Given the description of an element on the screen output the (x, y) to click on. 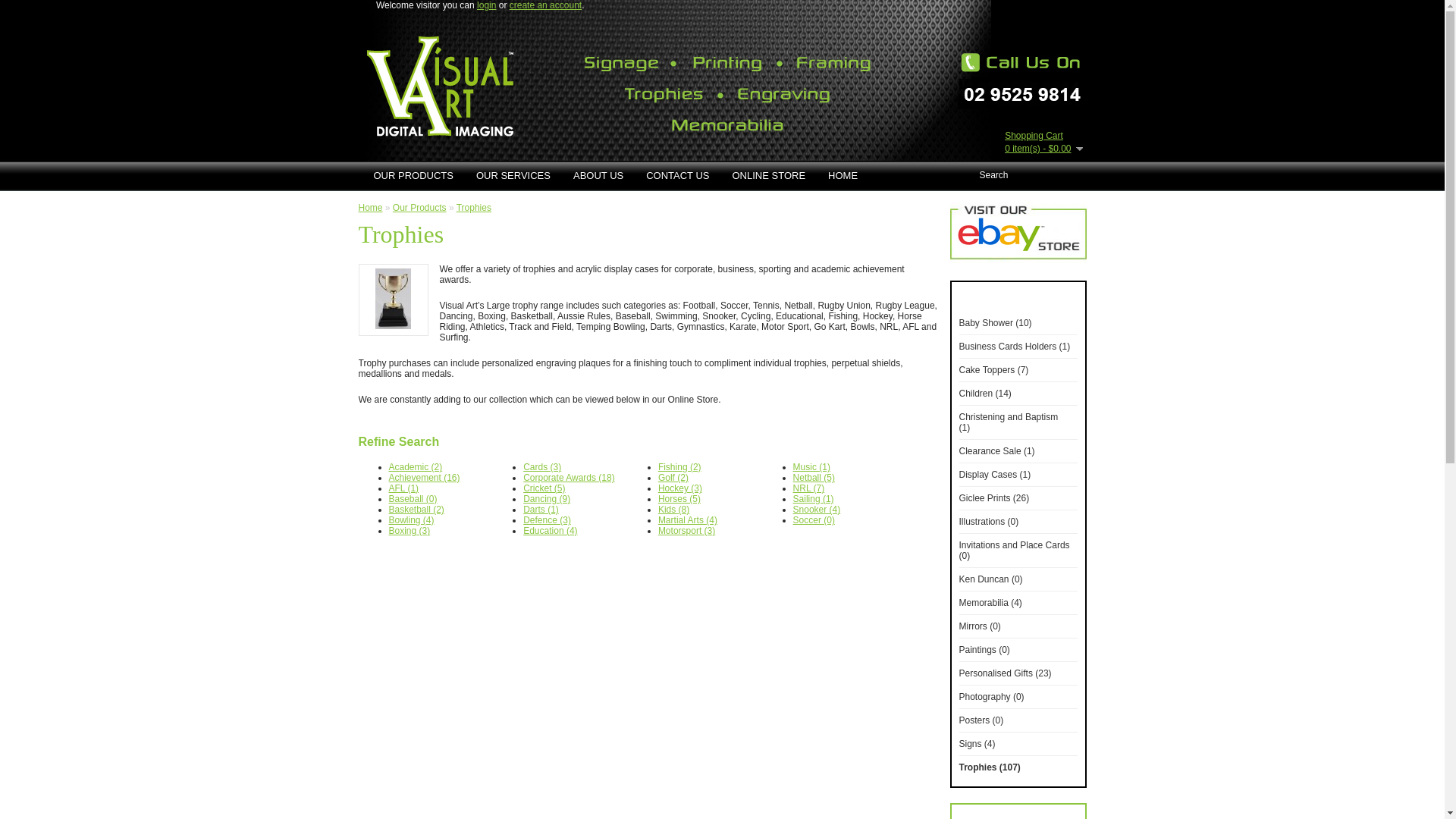
Academic (2) Element type: text (415, 466)
Achievement (16) Element type: text (423, 477)
Illustrations (0) Element type: text (988, 521)
OUR SERVICES Element type: text (512, 175)
Memorabilia (4) Element type: text (989, 602)
Basketball (2) Element type: text (415, 509)
Trophies (107) Element type: text (988, 767)
Clearance Sale (1) Element type: text (996, 450)
Display Cases (1) Element type: text (994, 474)
Mirrors (0) Element type: text (979, 626)
Baseball (0) Element type: text (412, 498)
OUR PRODUCTS Element type: text (413, 175)
Invitations and Place Cards (0) Element type: text (1013, 550)
Golf (2) Element type: text (673, 477)
Search Element type: text (1035, 174)
login Element type: text (485, 5)
CONTACT US Element type: text (677, 175)
Christening and Baptism (1) Element type: text (1007, 422)
Kids (8) Element type: text (673, 509)
Hockey (3) Element type: text (680, 488)
Education (4) Element type: text (550, 530)
Netball (5) Element type: text (813, 477)
Posters (0) Element type: text (980, 720)
Personalised Gifts (23) Element type: text (1004, 673)
HOME Element type: text (842, 175)
Signs (4) Element type: text (976, 743)
Shopping Cart
0 item(s) - $0.00 Element type: text (1043, 141)
NRL (7) Element type: text (809, 488)
Business Cards Holders (1) Element type: text (1014, 346)
Cards (3) Element type: text (542, 466)
Trophies Element type: text (473, 207)
eBay Element type: hover (1017, 232)
Soccer (0) Element type: text (813, 519)
Dancing (9) Element type: text (546, 498)
Cake Toppers (7) Element type: text (993, 369)
Horses (5) Element type: text (679, 498)
Paintings (0) Element type: text (983, 649)
Our Products Element type: text (419, 207)
Ken Duncan (0) Element type: text (990, 579)
AFL (1) Element type: text (403, 488)
Baby Shower (10) Element type: text (994, 322)
Home Element type: text (369, 207)
ONLINE STORE Element type: text (768, 175)
Darts (1) Element type: text (540, 509)
Defence (3) Element type: text (547, 519)
Photography (0) Element type: text (990, 696)
Fishing (2) Element type: text (679, 466)
Cricket (5) Element type: text (543, 488)
Martial Arts (4) Element type: text (687, 519)
Corporate Awards (18) Element type: text (569, 477)
create an account Element type: text (545, 5)
Snooker (4) Element type: text (816, 509)
Motorsport (3) Element type: text (686, 530)
Giclee Prints (26) Element type: text (993, 497)
ABOUT US Element type: text (597, 175)
Sailing (1) Element type: text (813, 498)
Bowling (4) Element type: text (410, 519)
Music (1) Element type: text (811, 466)
Children (14) Element type: text (984, 393)
Boxing (3) Element type: text (408, 530)
